Given the description of an element on the screen output the (x, y) to click on. 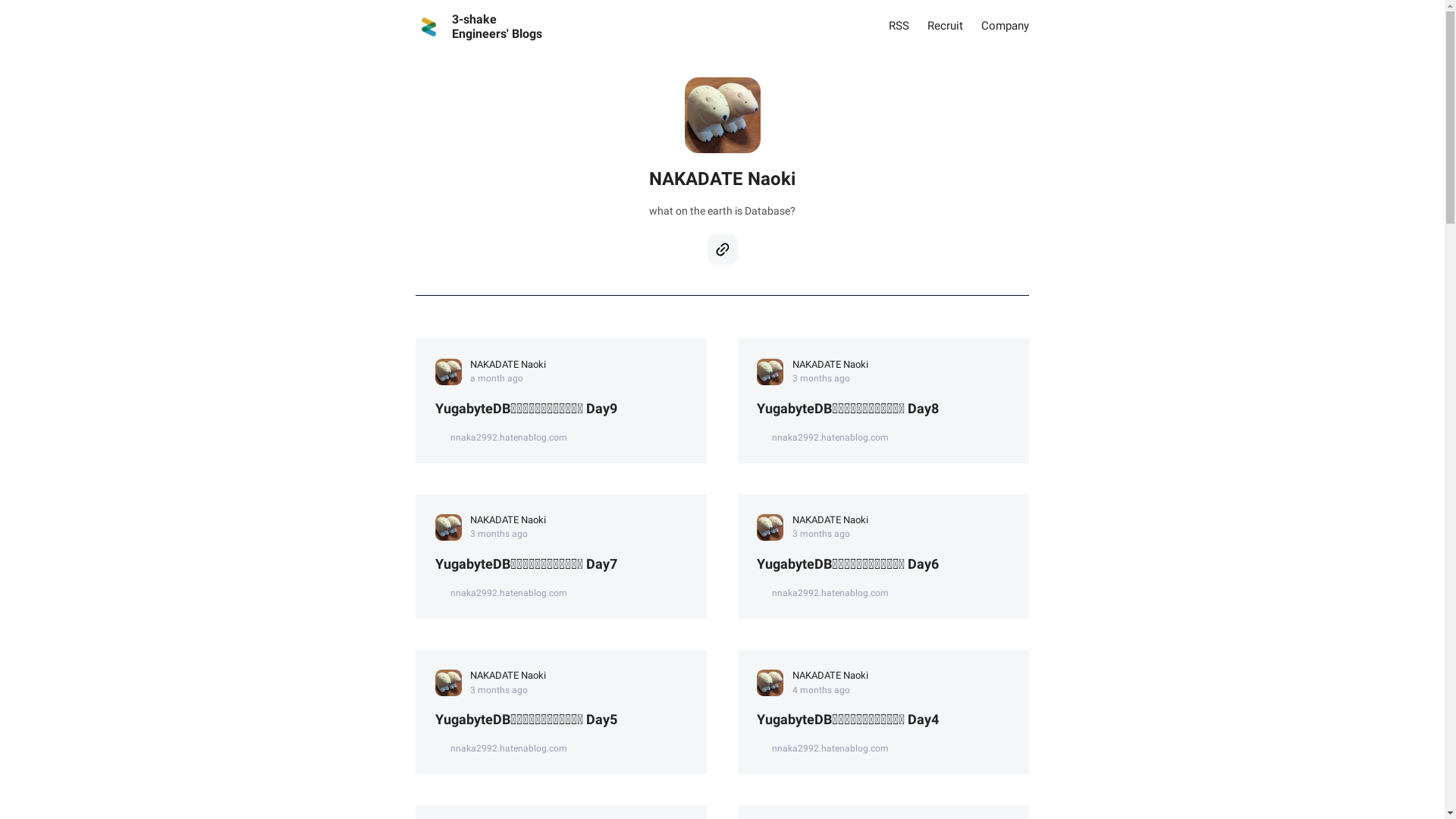
NAKADATE Naoki
3 months ago Element type: text (883, 517)
Recruit Element type: text (945, 26)
RSS Element type: text (898, 26)
NAKADATE Naoki
3 months ago Element type: text (560, 672)
3-shake
Engineers' Blogs Element type: text (478, 26)
NAKADATE Naoki
4 months ago Element type: text (883, 672)
NAKADATE Naoki
3 months ago Element type: text (560, 517)
NAKADATE Naoki
a month ago Element type: text (560, 361)
NAKADATE Naoki
3 months ago Element type: text (883, 361)
Company Element type: text (1005, 26)
